Given the description of an element on the screen output the (x, y) to click on. 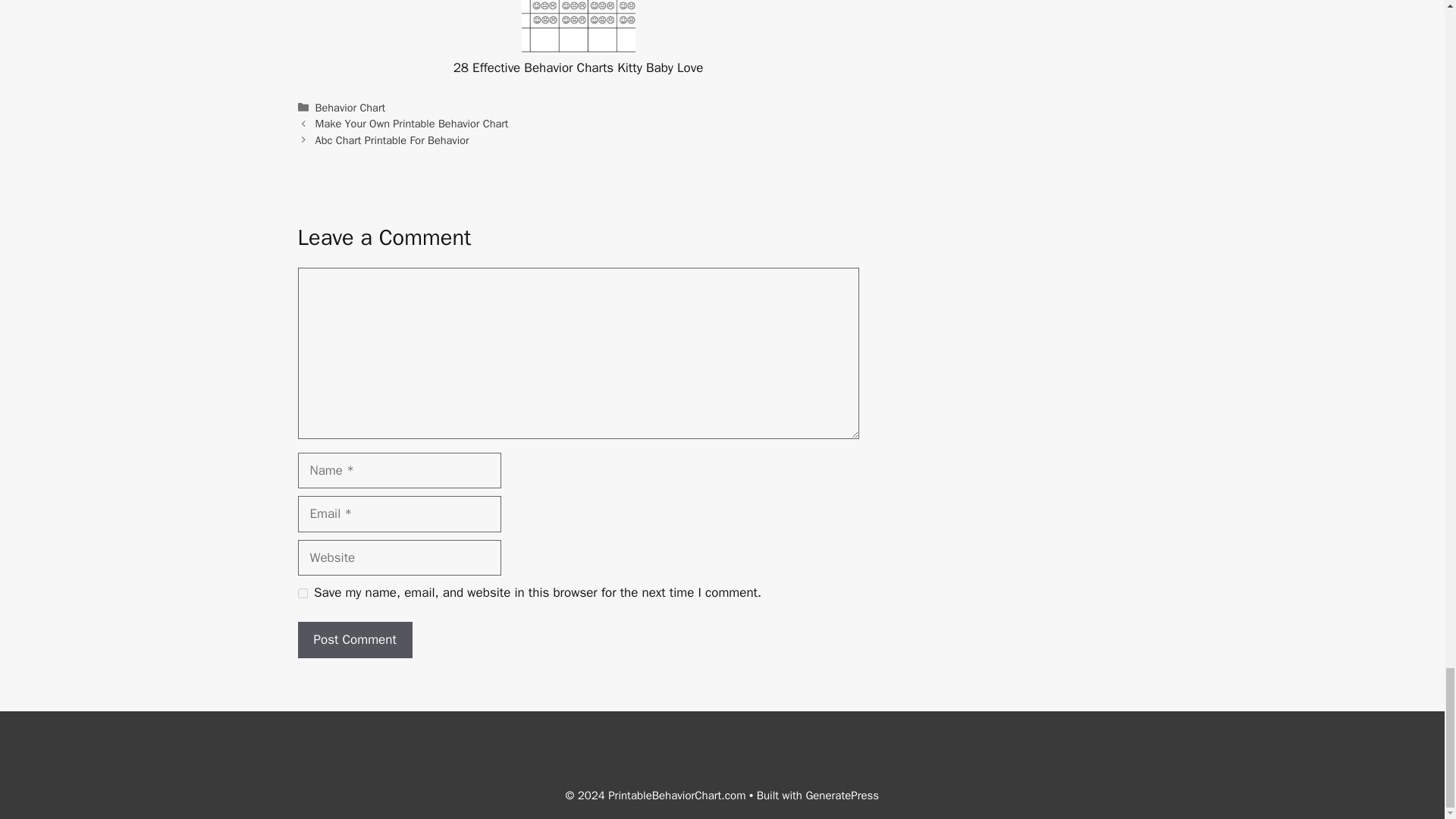
Make Your Own Printable Behavior Chart (411, 123)
yes (302, 593)
Abc Chart Printable For Behavior (391, 140)
Post Comment (354, 639)
Behavior Chart (350, 107)
Post Comment (354, 639)
GeneratePress (842, 795)
